Given the description of an element on the screen output the (x, y) to click on. 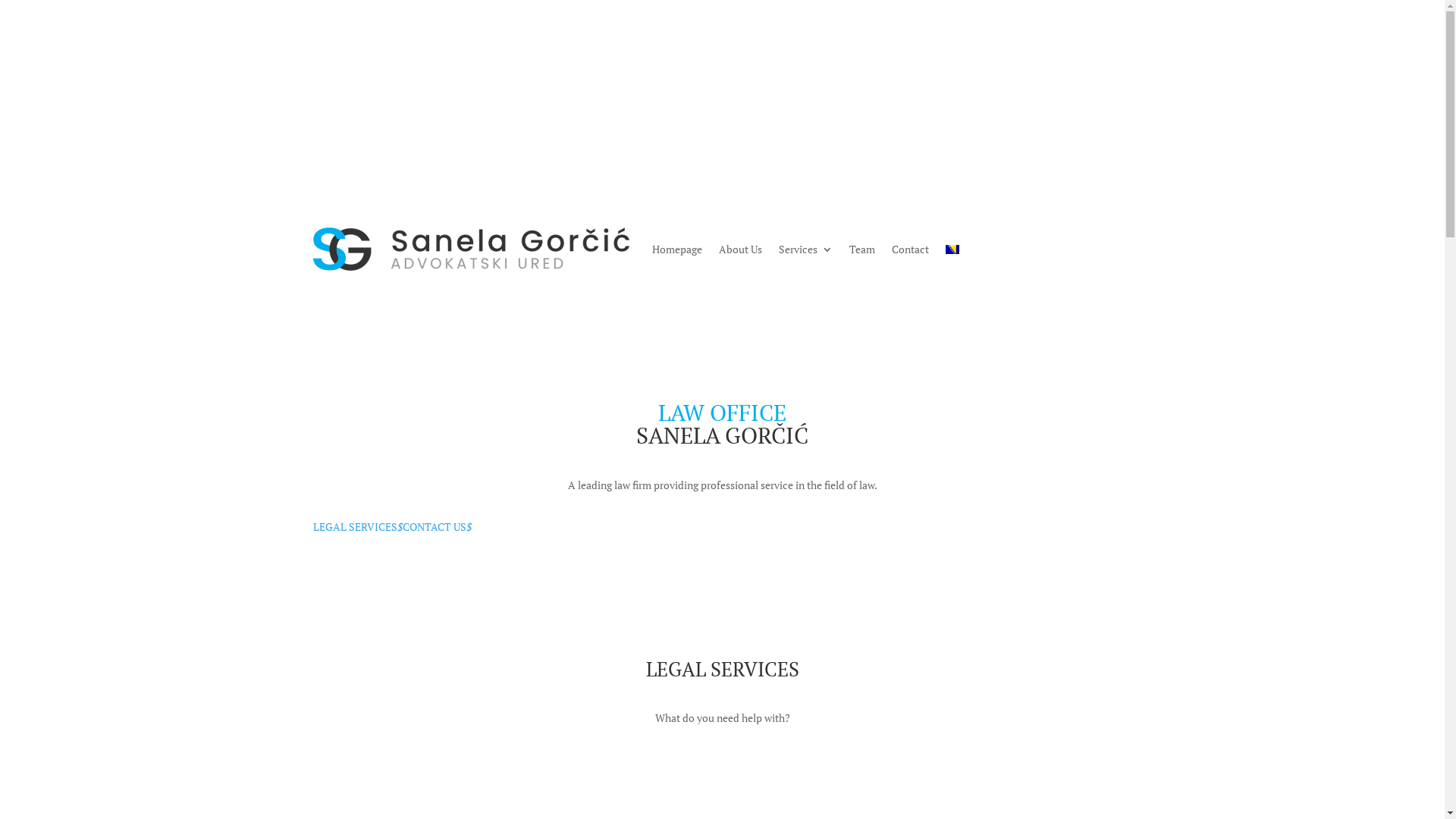
LEGAL SERVICES$ Element type: text (356, 526)
CONTACT US$ Element type: text (435, 526)
Services Element type: text (804, 249)
Homepage Element type: text (677, 249)
About Us Element type: text (740, 249)
Contact Element type: text (909, 249)
Team Element type: text (862, 249)
